Given the description of an element on the screen output the (x, y) to click on. 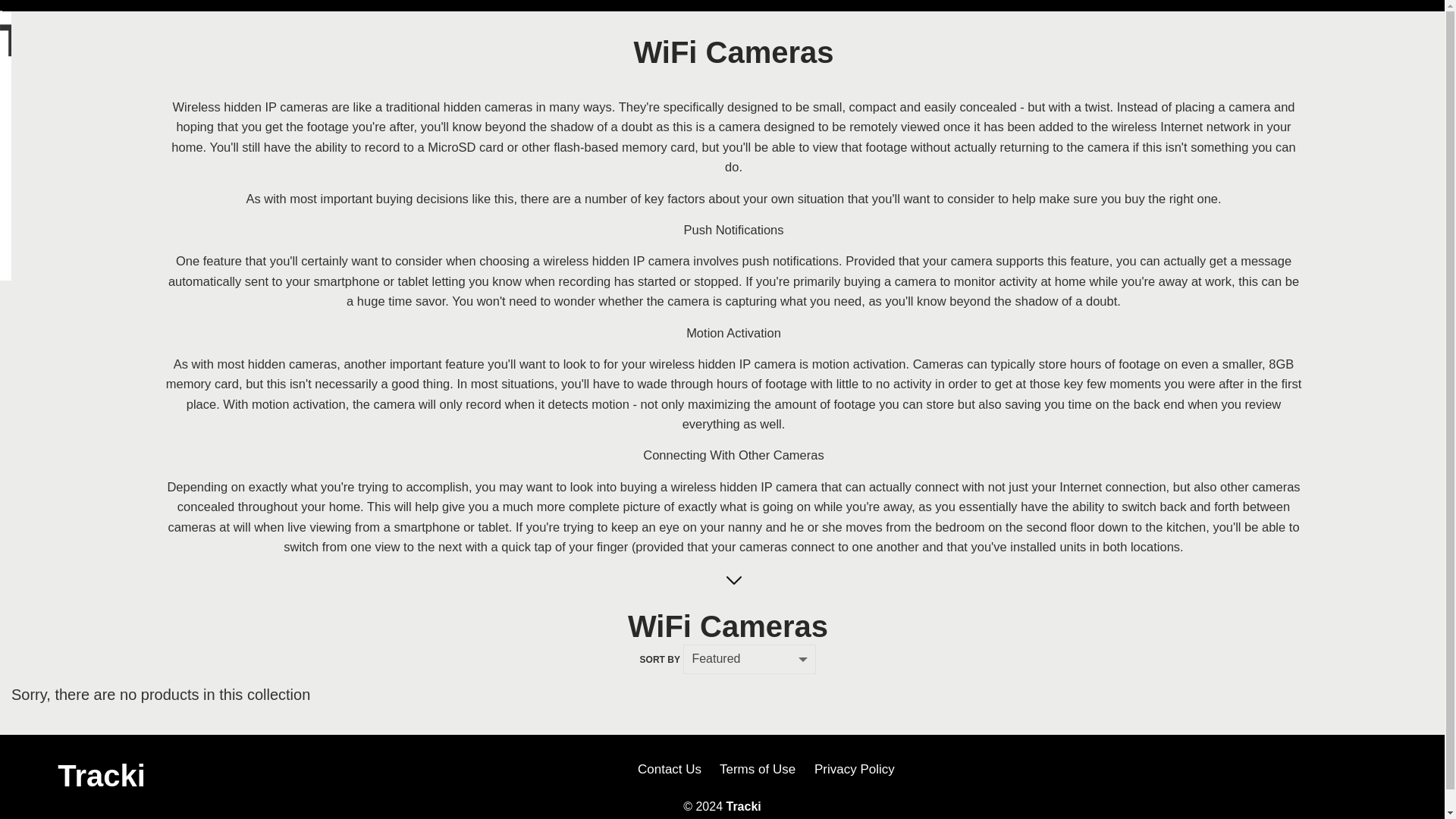
Login (410, 174)
How-to Videos (681, 174)
Help Center (456, 60)
Contact Us (611, 174)
Submit Support Ticket (485, 172)
1-800-742-1200 (1350, 31)
Connect Tracki with Alexa (494, 126)
Home (161, 174)
Buy GPS Tracker (258, 99)
Support (505, 32)
